Given the description of an element on the screen output the (x, y) to click on. 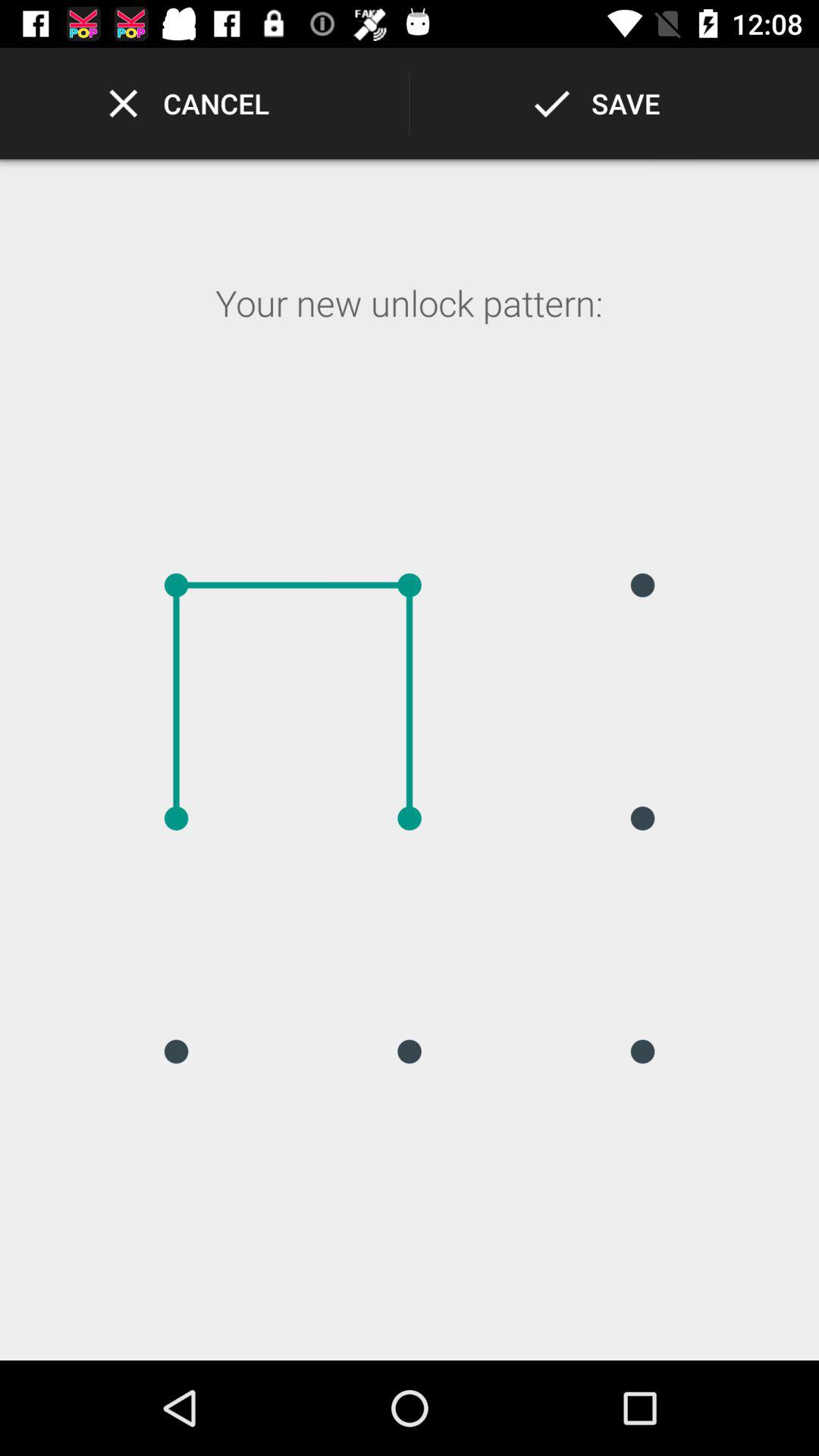
open the your new unlock item (408, 323)
